Given the description of an element on the screen output the (x, y) to click on. 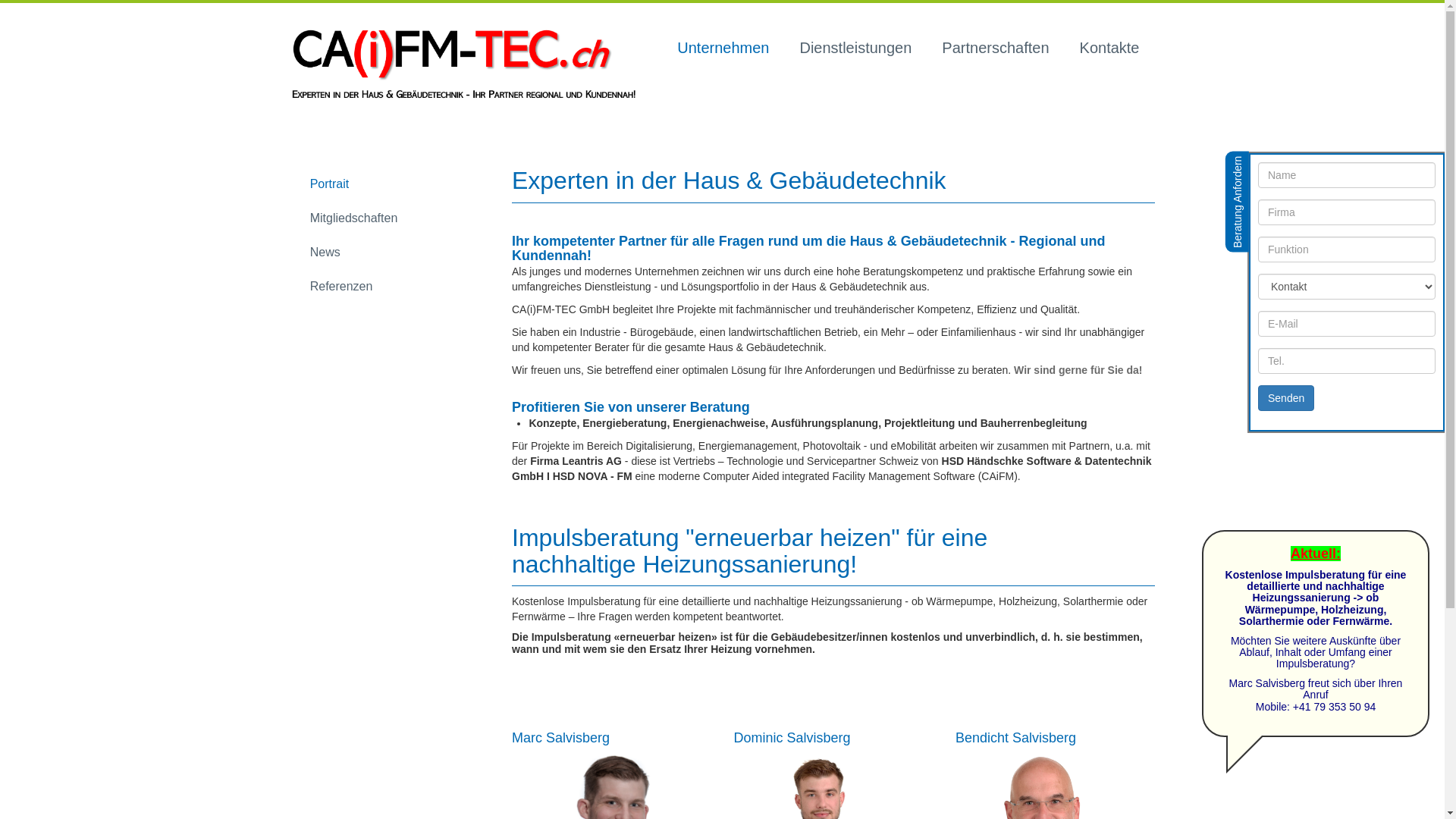
Dienstleistungen Element type: text (855, 47)
Portrait Element type: text (329, 184)
Senden Element type: text (1286, 398)
Partnerschaften Element type: text (994, 47)
News Element type: text (324, 252)
Referenzen Element type: text (341, 286)
Beratung Anfordern Element type: text (1275, 163)
Mitgliedschaften Element type: text (353, 218)
Unternehmen Element type: text (723, 47)
Kontakte Element type: text (1109, 47)
